Given the description of an element on the screen output the (x, y) to click on. 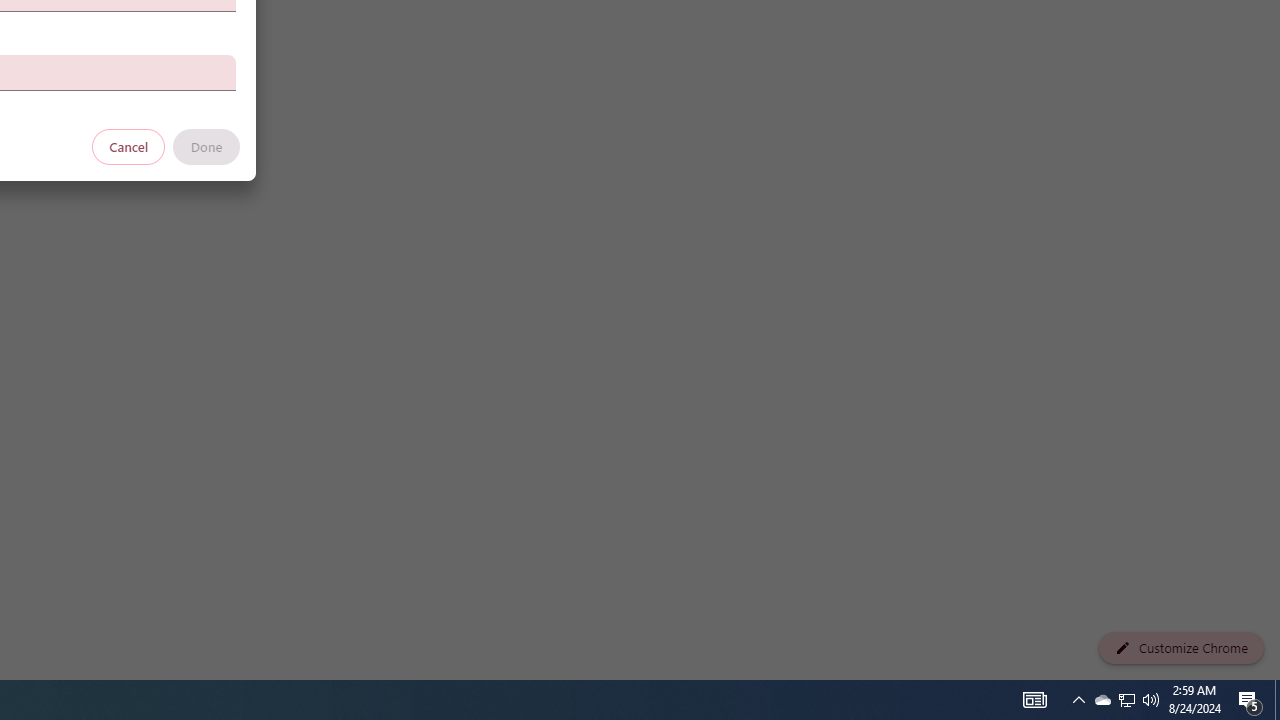
Done (206, 146)
